Given the description of an element on the screen output the (x, y) to click on. 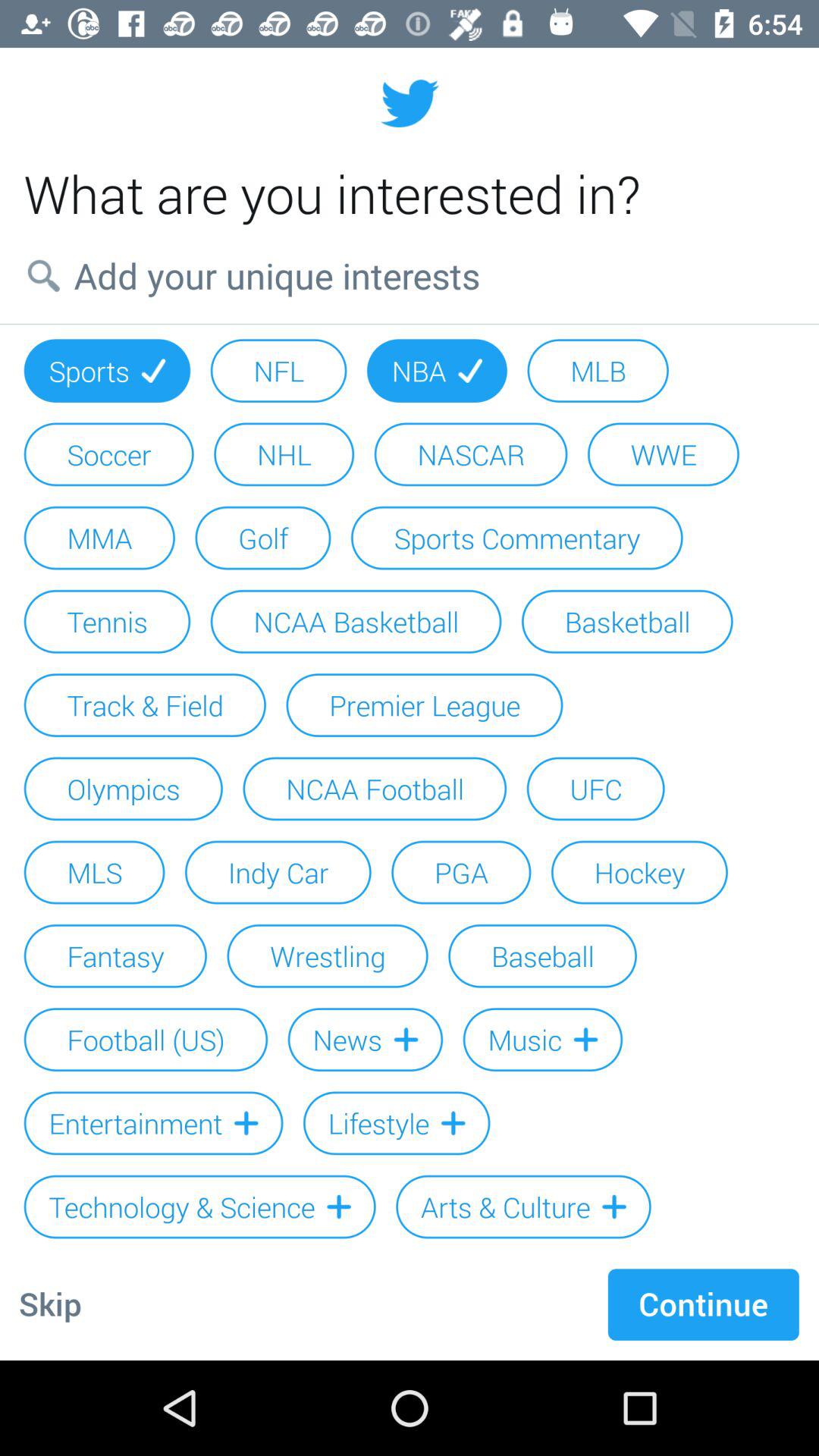
choose the icon next to the basketball item (355, 621)
